Given the description of an element on the screen output the (x, y) to click on. 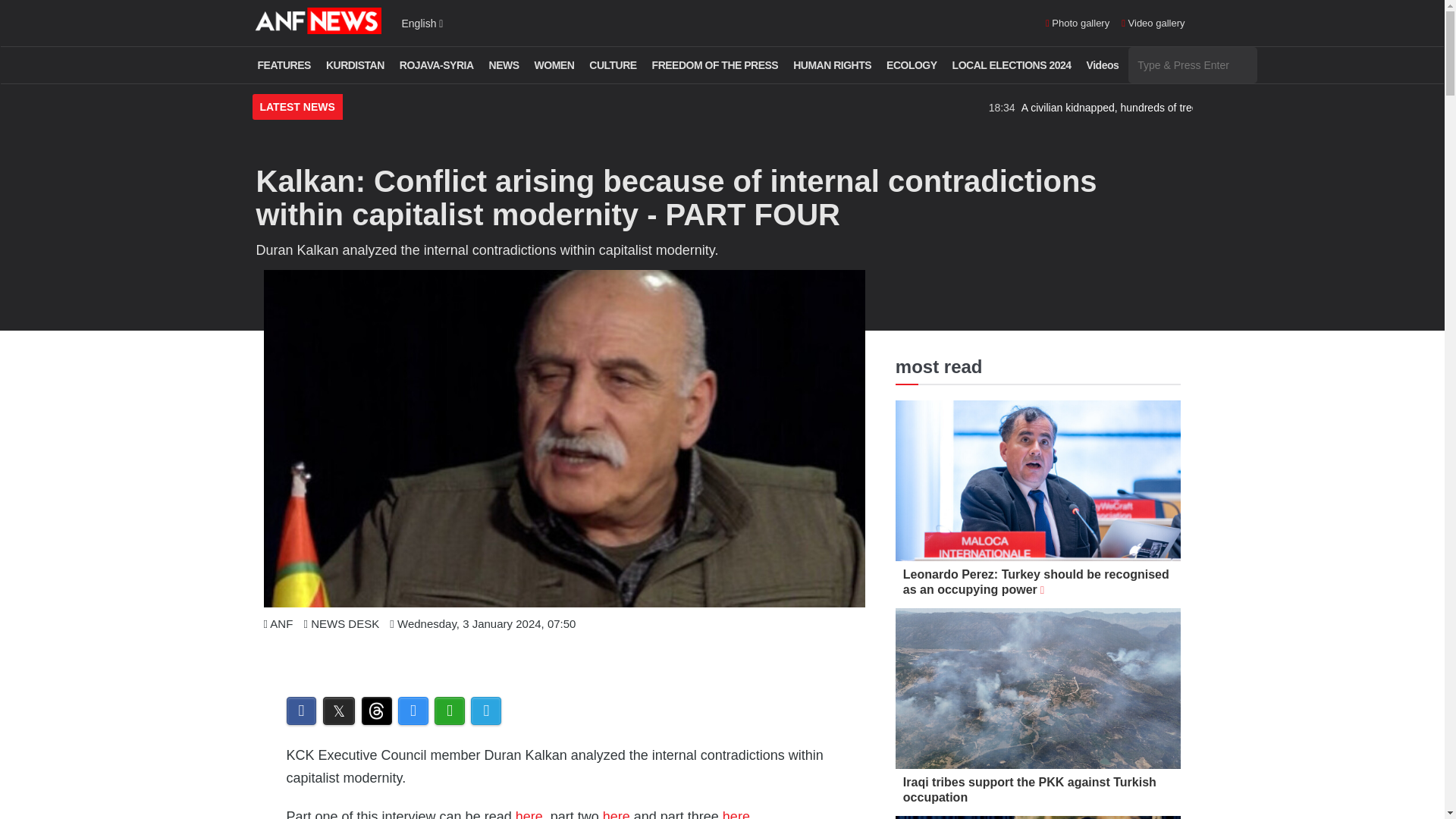
FEATURES (283, 64)
NEWS (503, 64)
CULTURE (612, 64)
ROJAVA-SYRIA (436, 64)
HUMAN RIGHTS (831, 64)
ECOLOGY (911, 64)
LOCAL ELECTIONS 2024 (1012, 64)
WOMEN (554, 64)
English (422, 23)
LATEST NEWS (296, 107)
KURDISTAN (355, 64)
Videos (1102, 64)
Video gallery (1152, 24)
Photo gallery (1077, 24)
FREEDOM OF THE PRESS (715, 64)
